Given the description of an element on the screen output the (x, y) to click on. 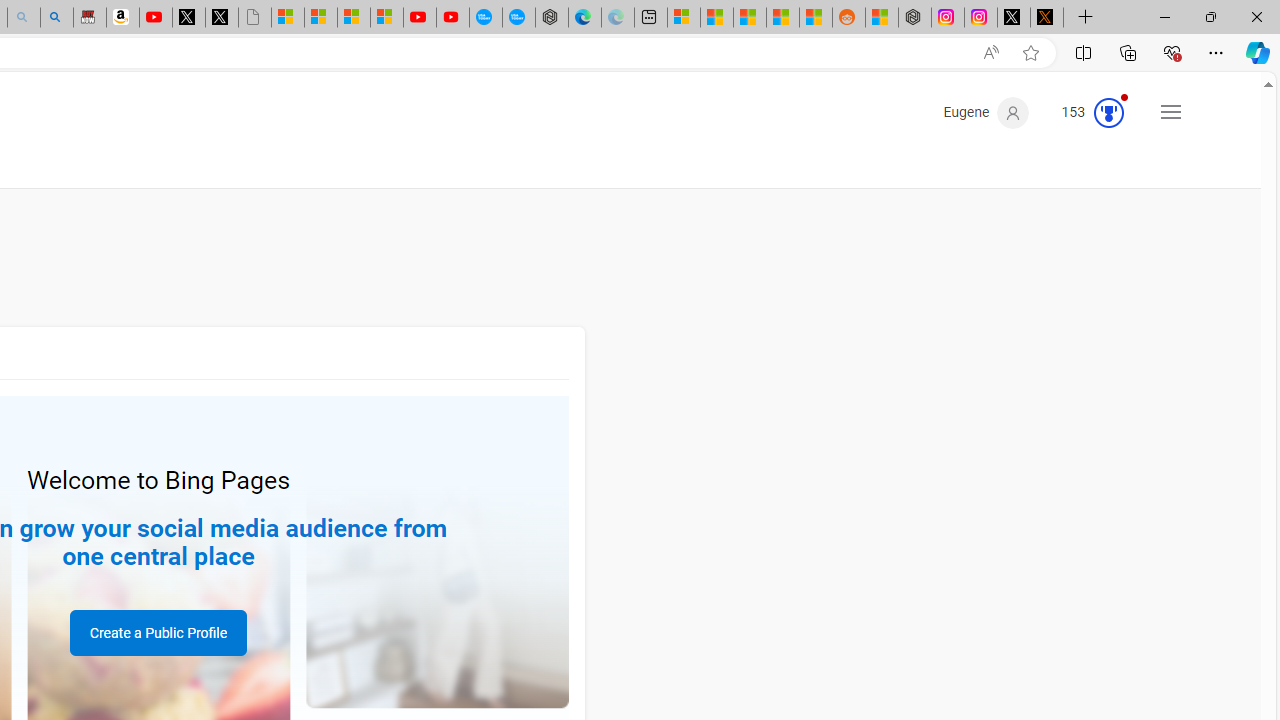
Log in to X / X (1014, 17)
Amazon Echo Dot PNG - Search Images (56, 17)
Settings and quick links (1170, 111)
Class: medal-circled (1109, 112)
Gloom - YouTube (420, 17)
